Given the description of an element on the screen output the (x, y) to click on. 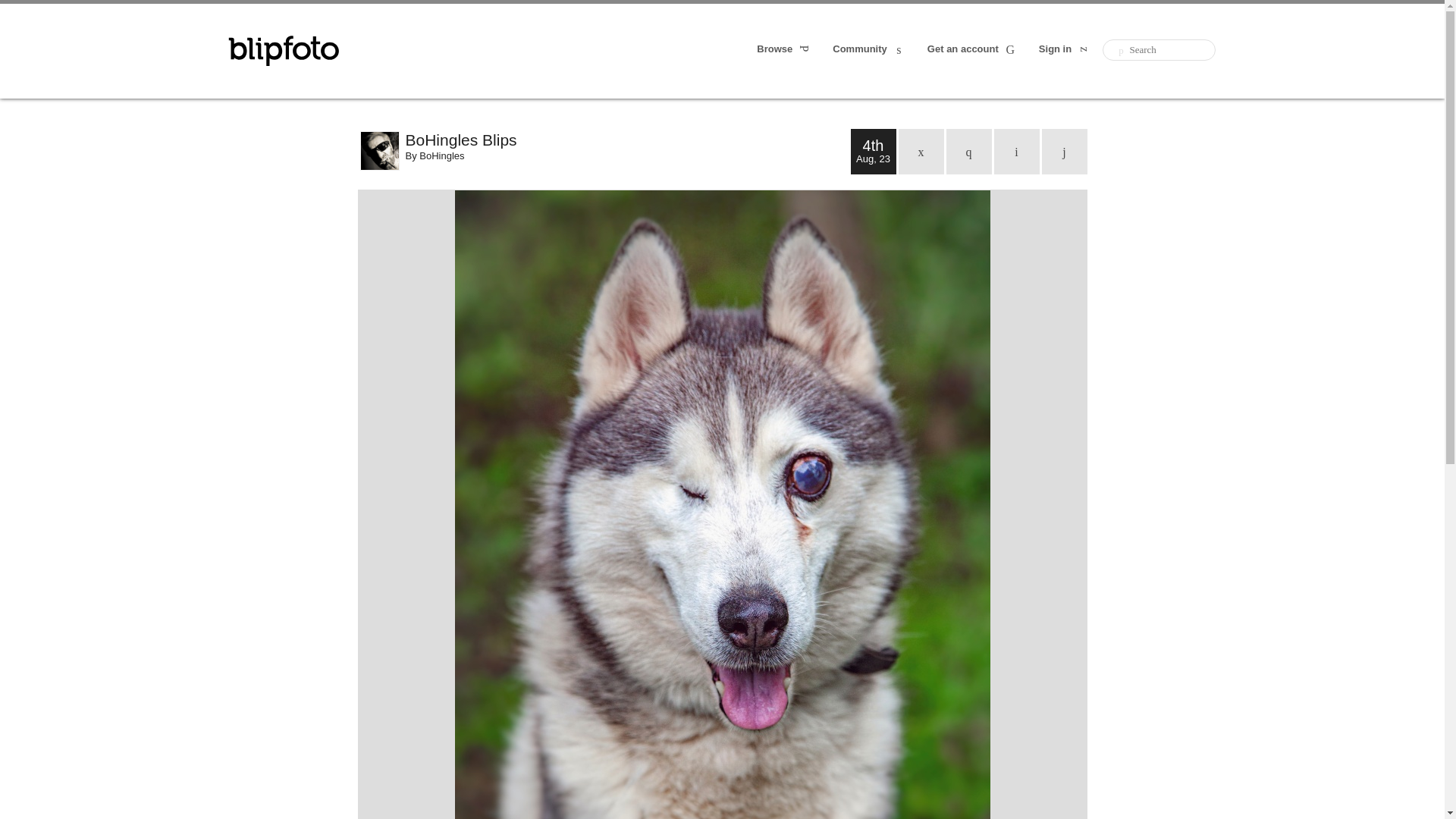
One year ago (968, 151)
Sign in (1064, 50)
Community (868, 50)
Browse (783, 50)
Get an account (972, 50)
Previous (1015, 151)
Next (1064, 151)
BoHingles Blips (627, 139)
calendar (920, 151)
BoHingles (441, 155)
